Given the description of an element on the screen output the (x, y) to click on. 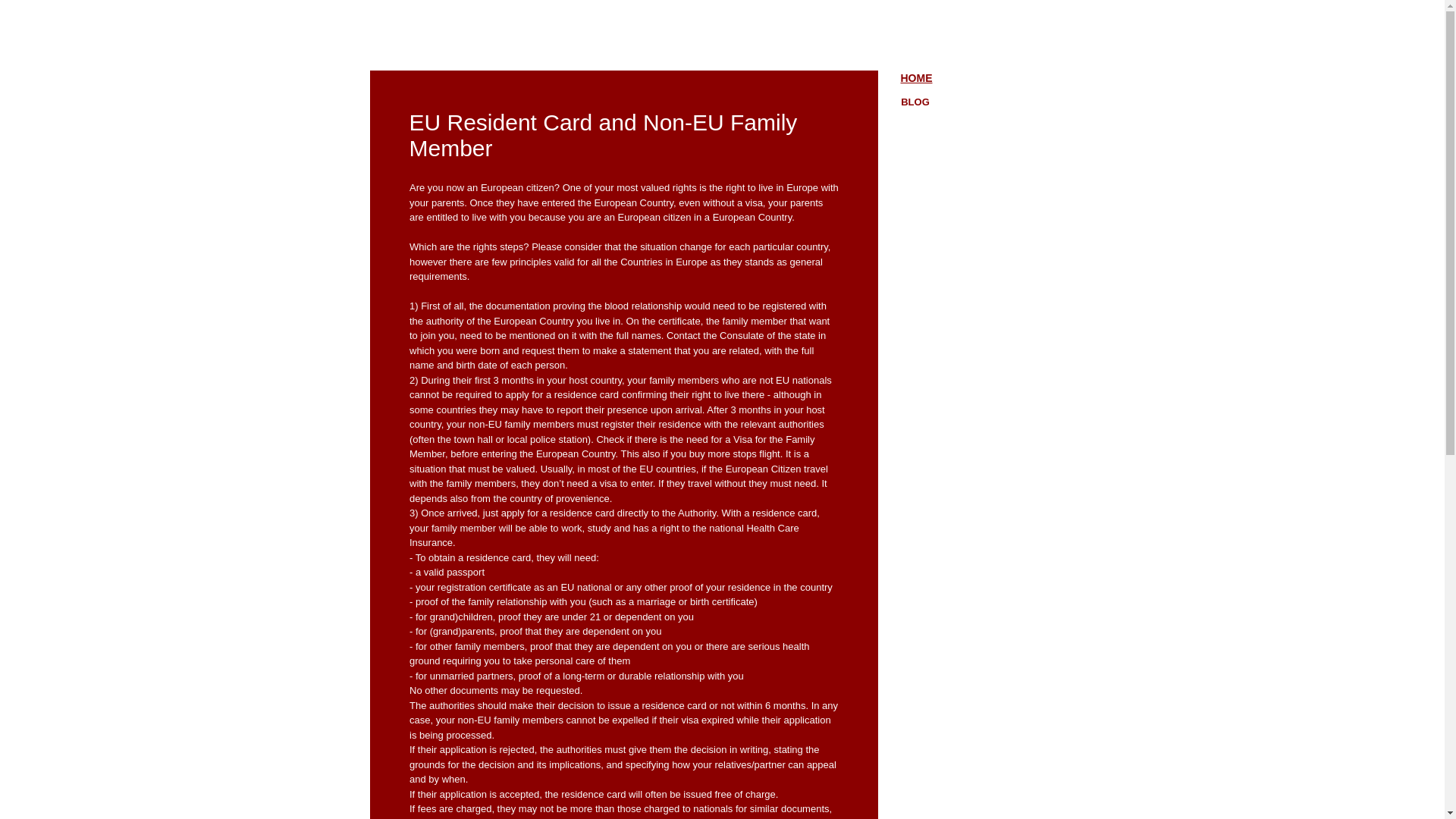
HOME (917, 78)
BLOG (915, 102)
